Given the description of an element on the screen output the (x, y) to click on. 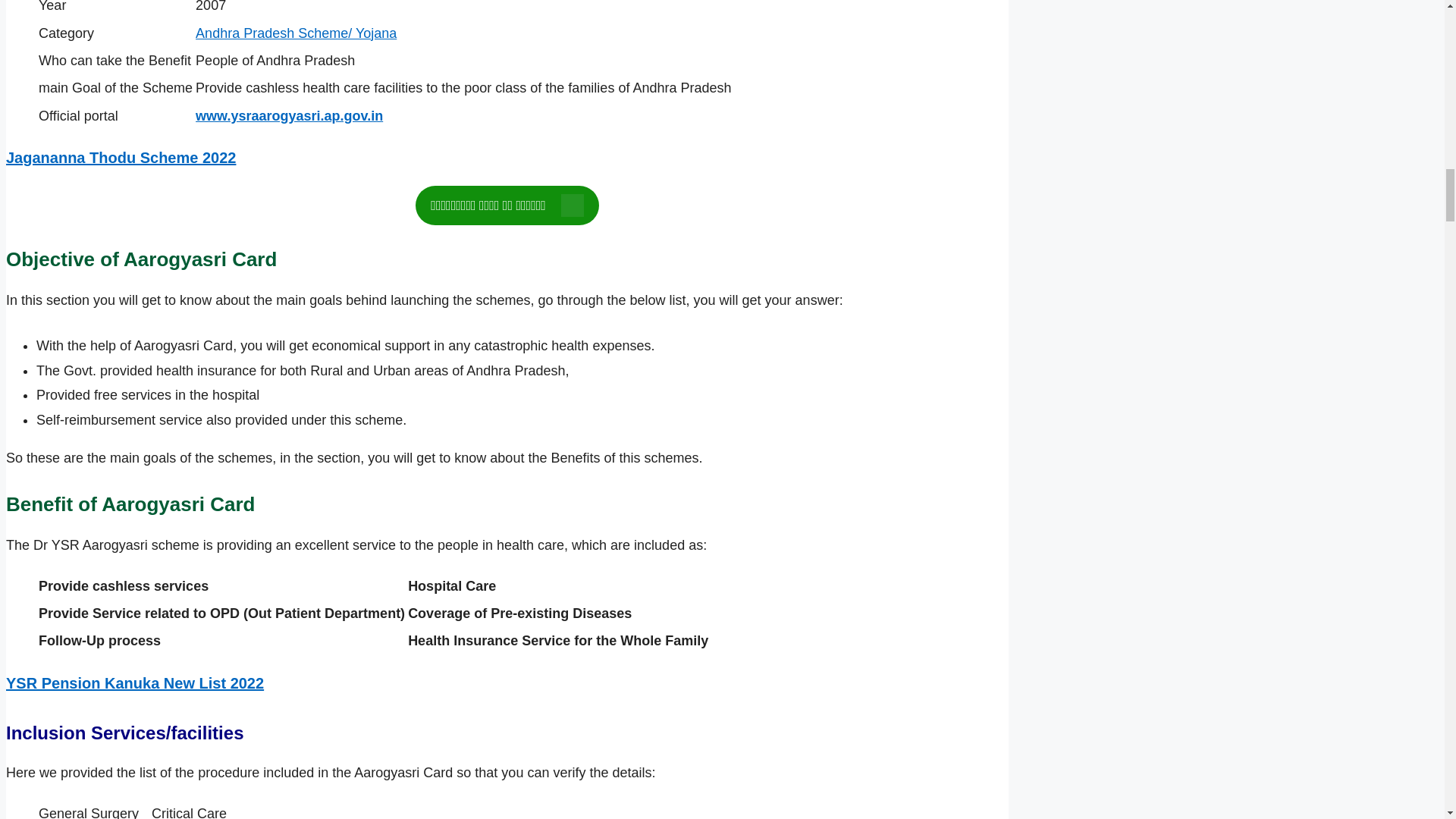
www.ysraarogyasri.ap.gov.in (288, 115)
YSR Pension Kanuka New List 2022 (134, 682)
Jagananna Thodu Scheme 2022 (120, 157)
